Given the description of an element on the screen output the (x, y) to click on. 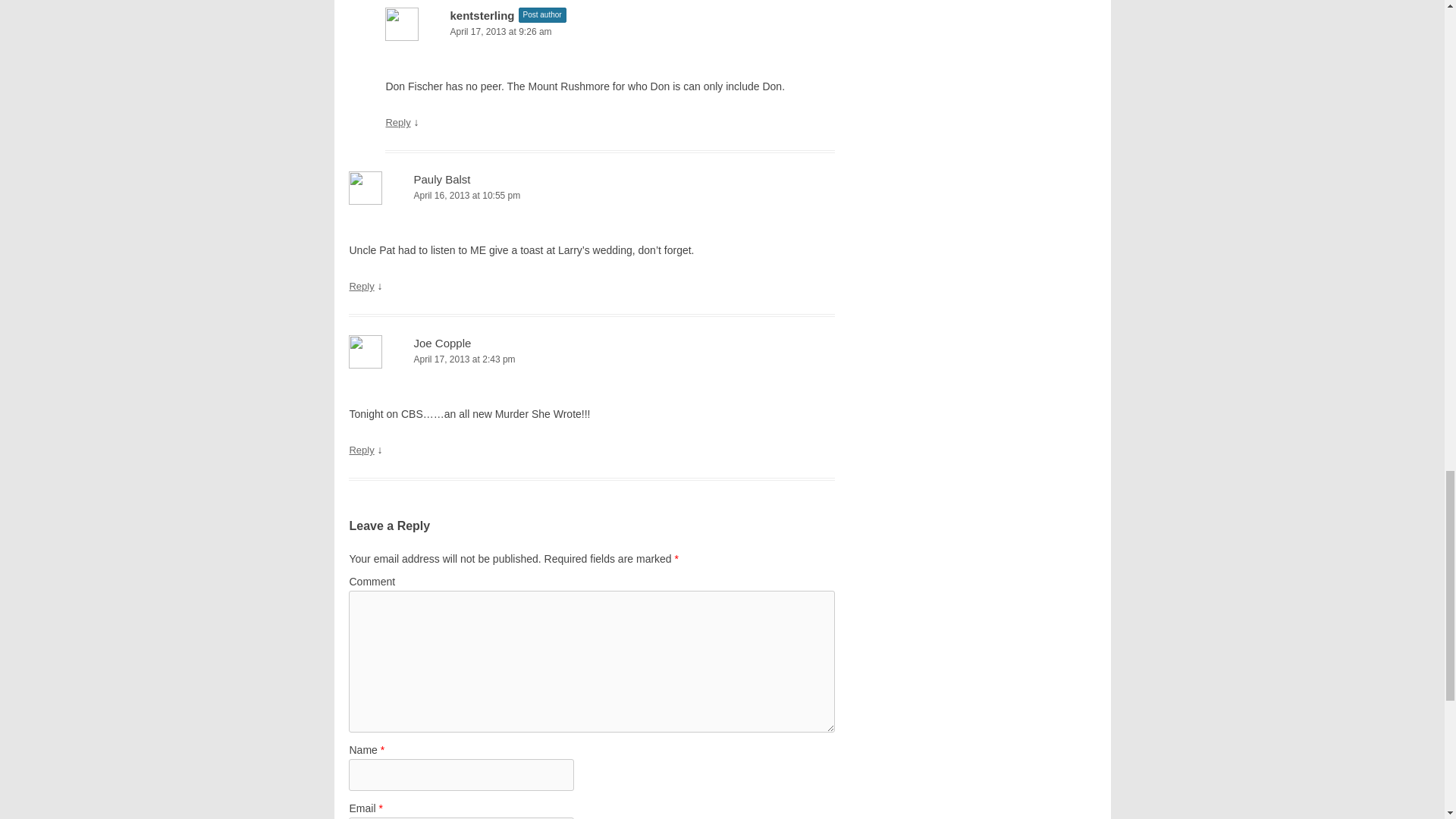
April 17, 2013 at 2:43 pm (591, 359)
Reply (361, 449)
April 17, 2013 at 9:26 am (609, 32)
Reply (361, 285)
April 16, 2013 at 10:55 pm (591, 195)
Reply (397, 122)
